Given the description of an element on the screen output the (x, y) to click on. 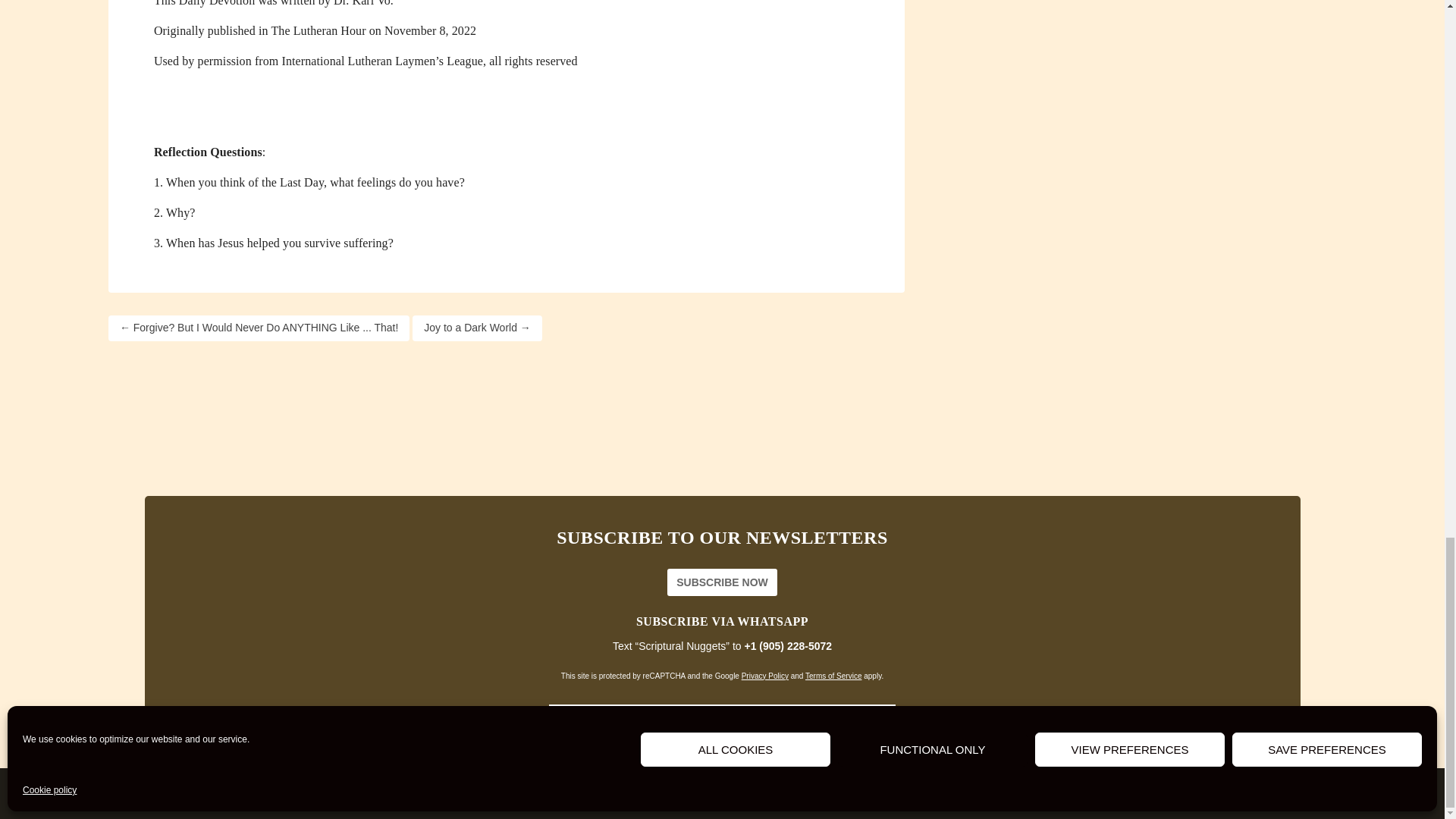
Subscribe now (721, 582)
